Given the description of an element on the screen output the (x, y) to click on. 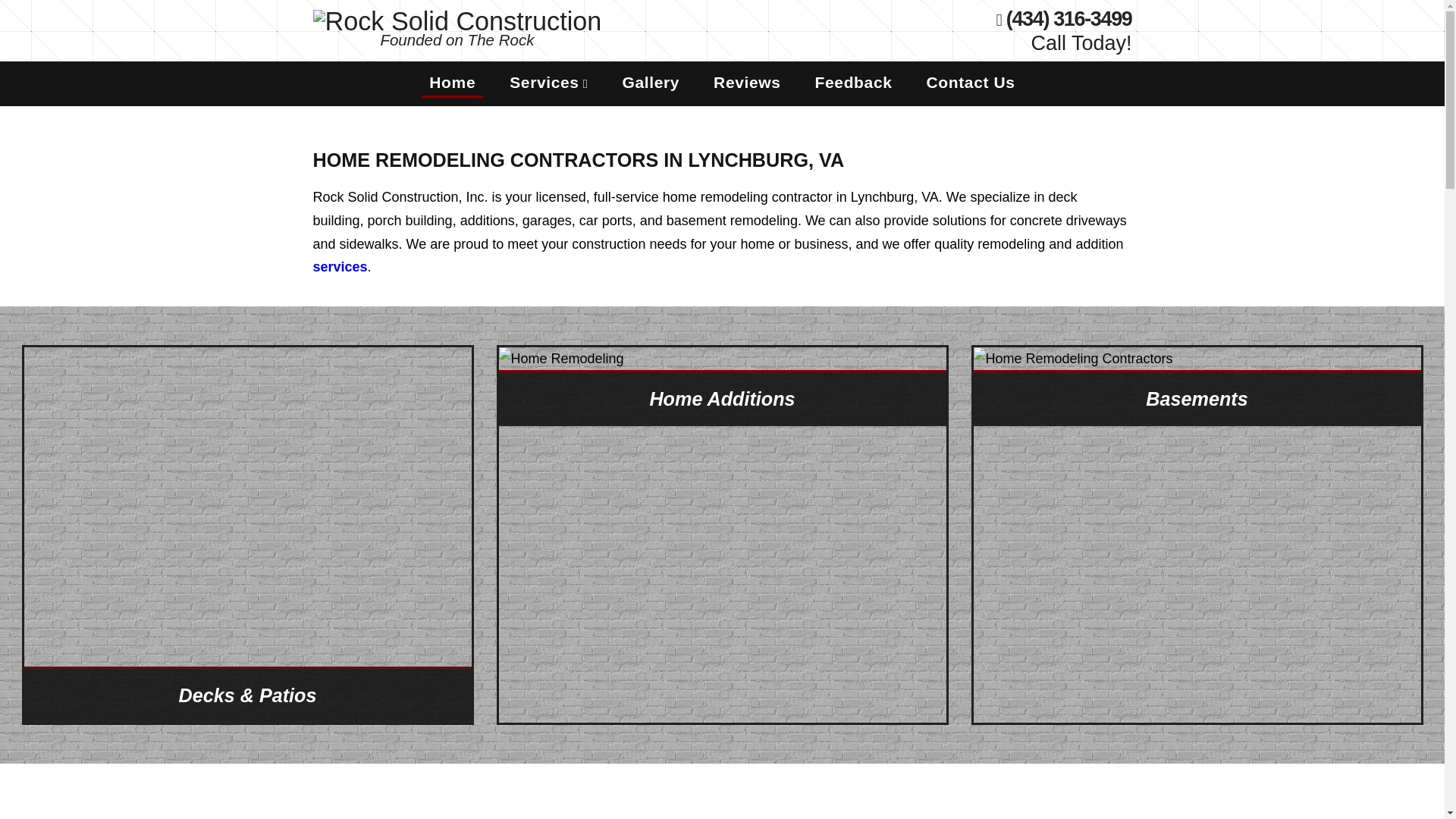
Contact Us (970, 81)
services (339, 266)
Home (452, 81)
Services (548, 81)
Home Additions (722, 397)
Founded on The Rock (457, 26)
Reviews (746, 81)
Gallery (650, 81)
Basements (1197, 397)
services (339, 266)
Feedback (853, 81)
